Given the description of an element on the screen output the (x, y) to click on. 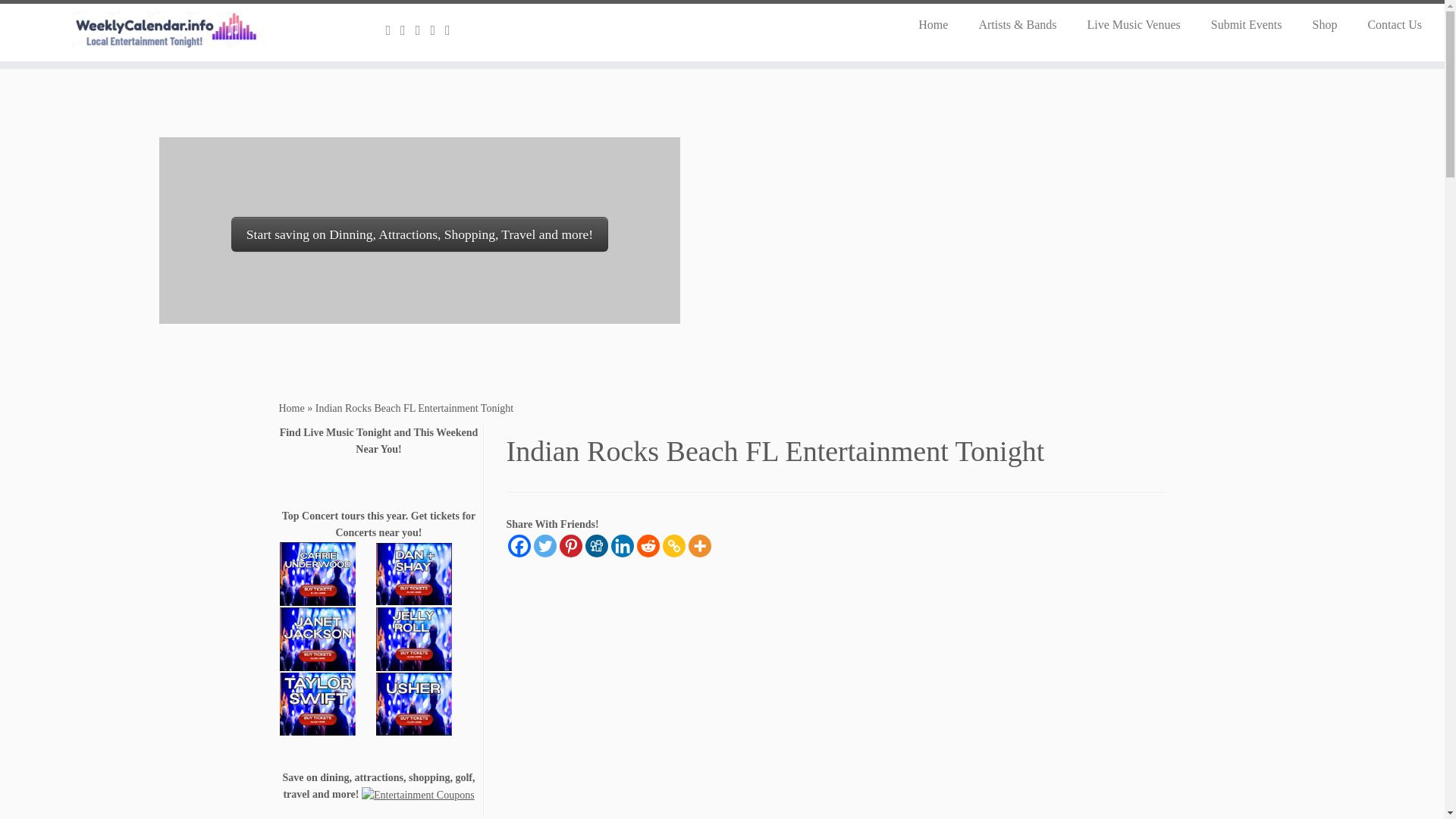
More (699, 545)
Live Music Venues (1133, 24)
Reddit (648, 545)
Twitter (545, 545)
Copy Link (673, 545)
Home (932, 24)
Digg (596, 545)
Facebook (519, 545)
Contact Us (1387, 24)
